Given the description of an element on the screen output the (x, y) to click on. 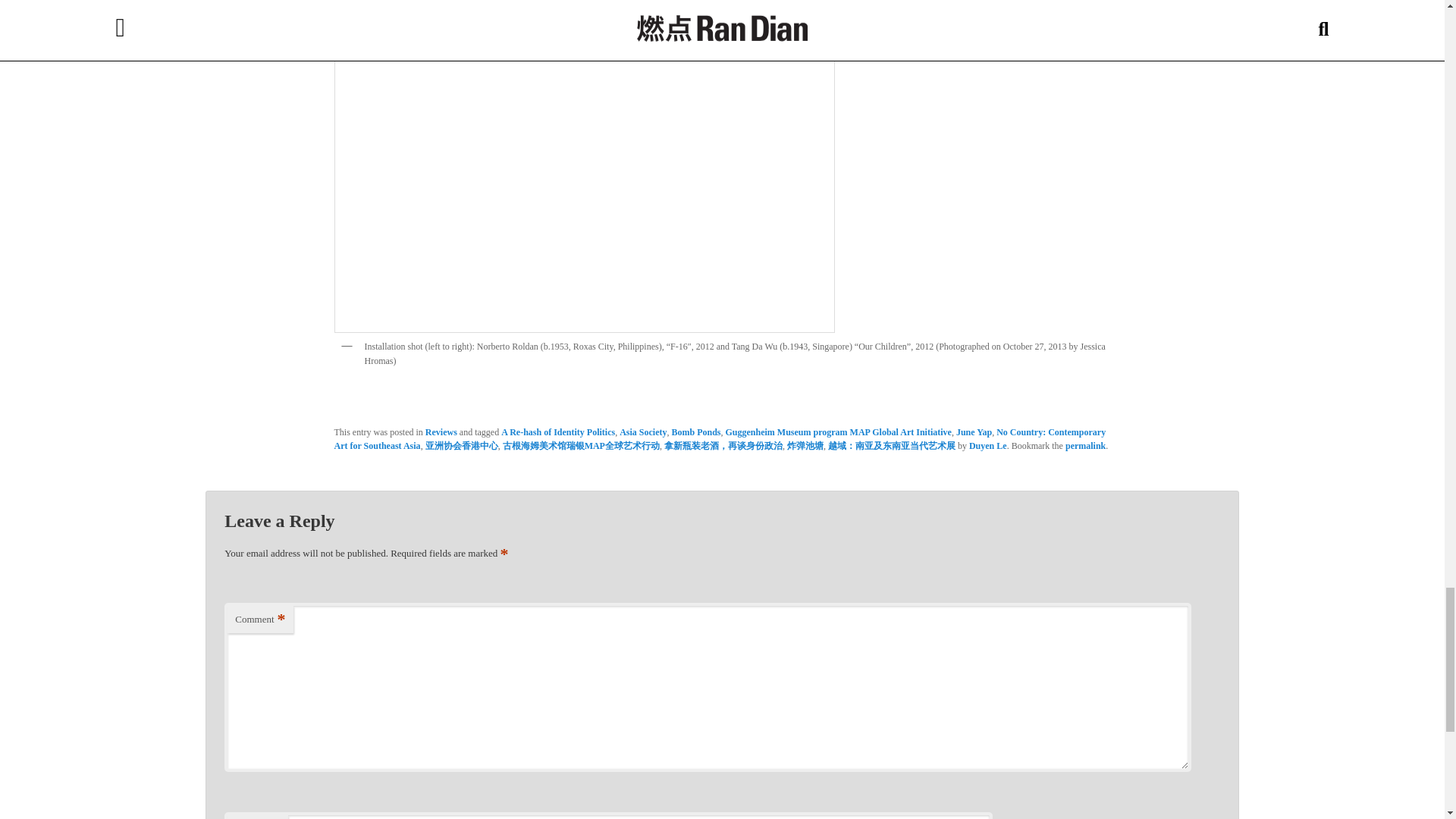
Bomb Ponds (695, 431)
Asia Society (643, 431)
A Re-hash of Identity Politics (557, 431)
Guggenheim Museum program MAP Global Art Initiative (837, 431)
June Yap (973, 431)
Reviews (441, 431)
Duyen Le (988, 445)
No Country: Contemporary Art for Southeast Asia (719, 438)
permalink (1085, 445)
